Given the description of an element on the screen output the (x, y) to click on. 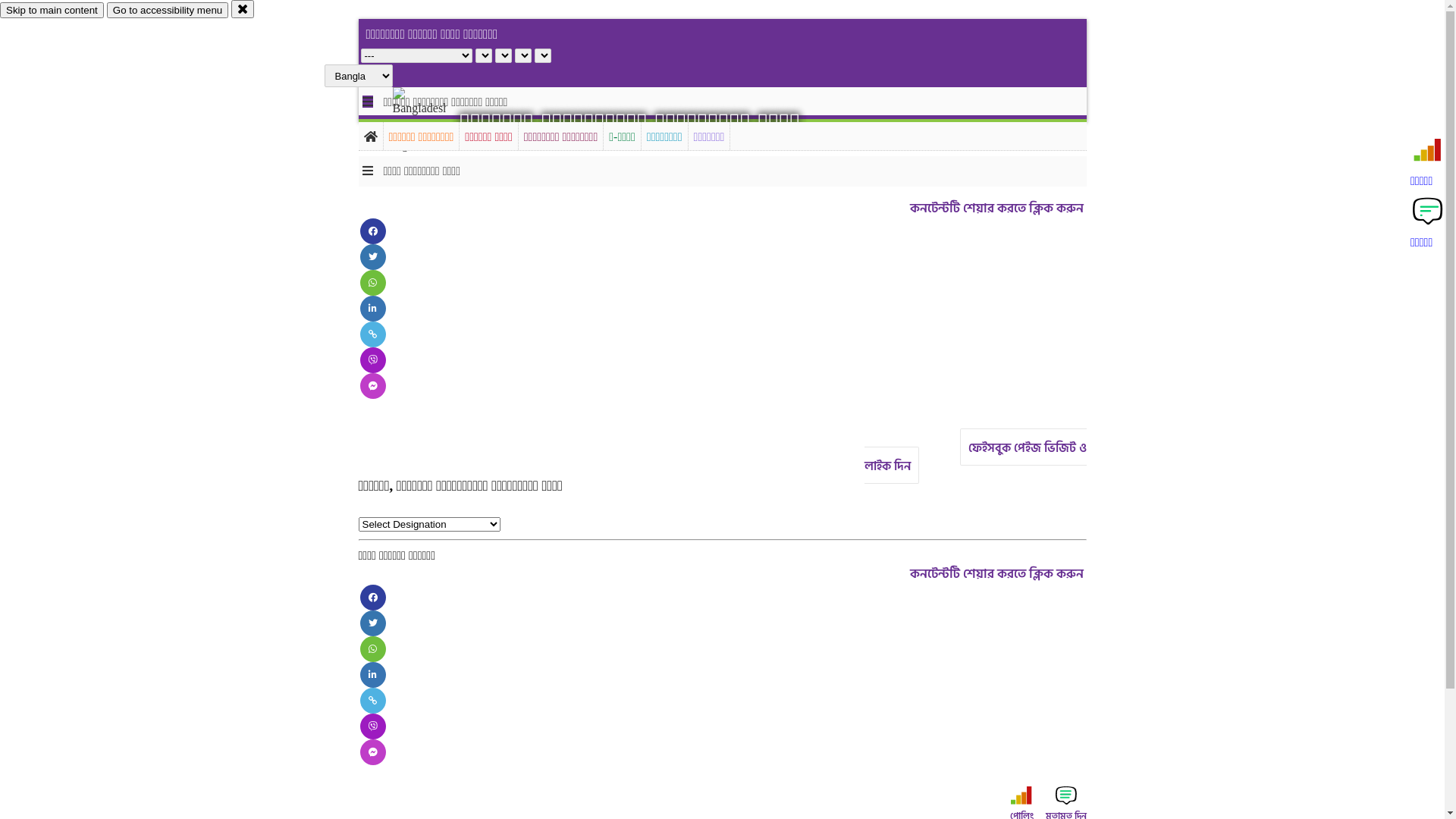

                
             Element type: hover (431, 120)
Skip to main content Element type: text (51, 10)
Go to accessibility menu Element type: text (167, 10)
close Element type: hover (242, 9)
